Given the description of an element on the screen output the (x, y) to click on. 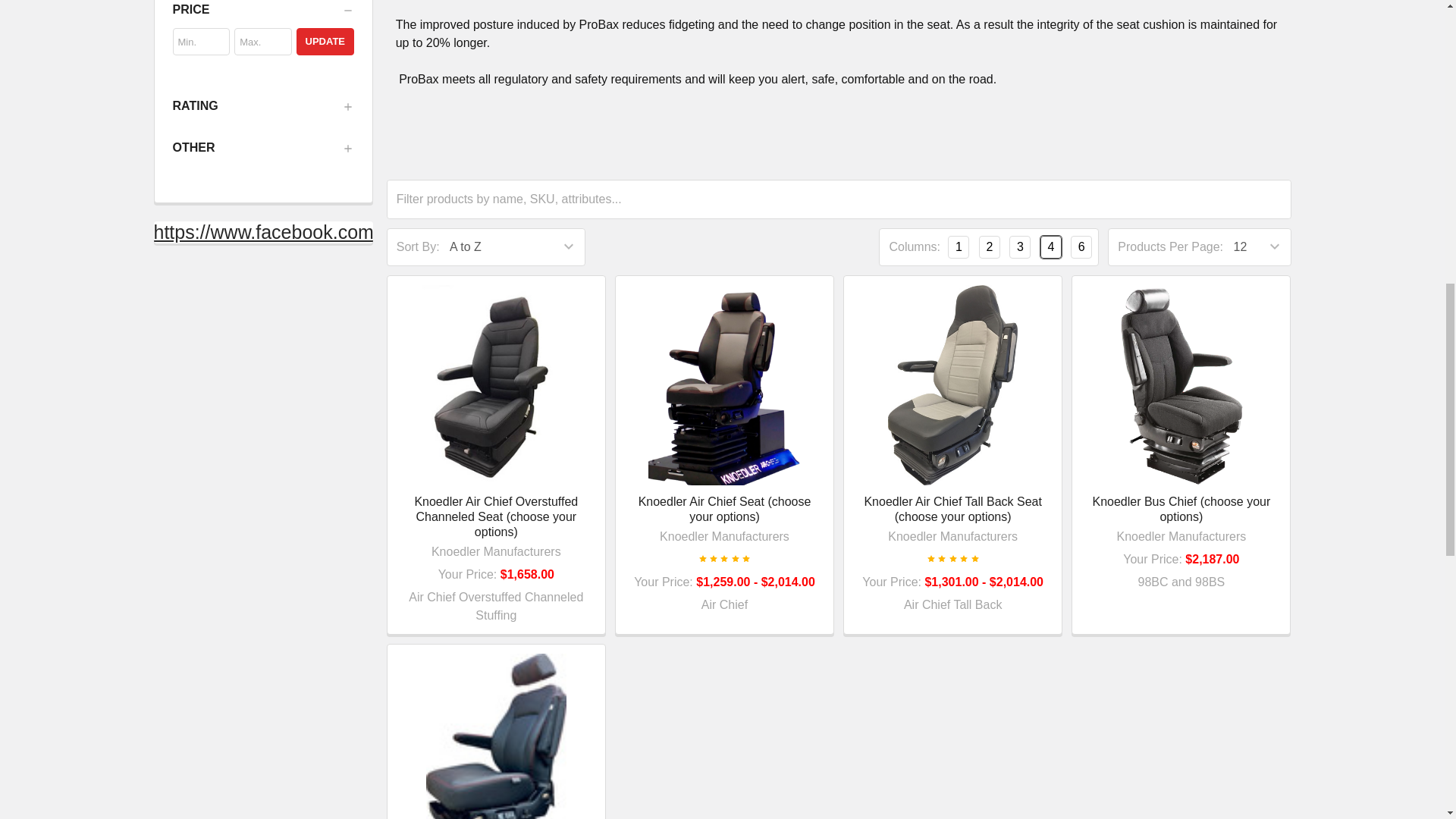
Knoedler Bus Chief - NEW STYLING (1181, 384)
Knoedler Air Chief (724, 384)
1 (958, 247)
6 (1080, 247)
4 (1050, 247)
3 (1019, 247)
2 (988, 247)
Knoedler Air Chief Tall Back (952, 384)
